Given the description of an element on the screen output the (x, y) to click on. 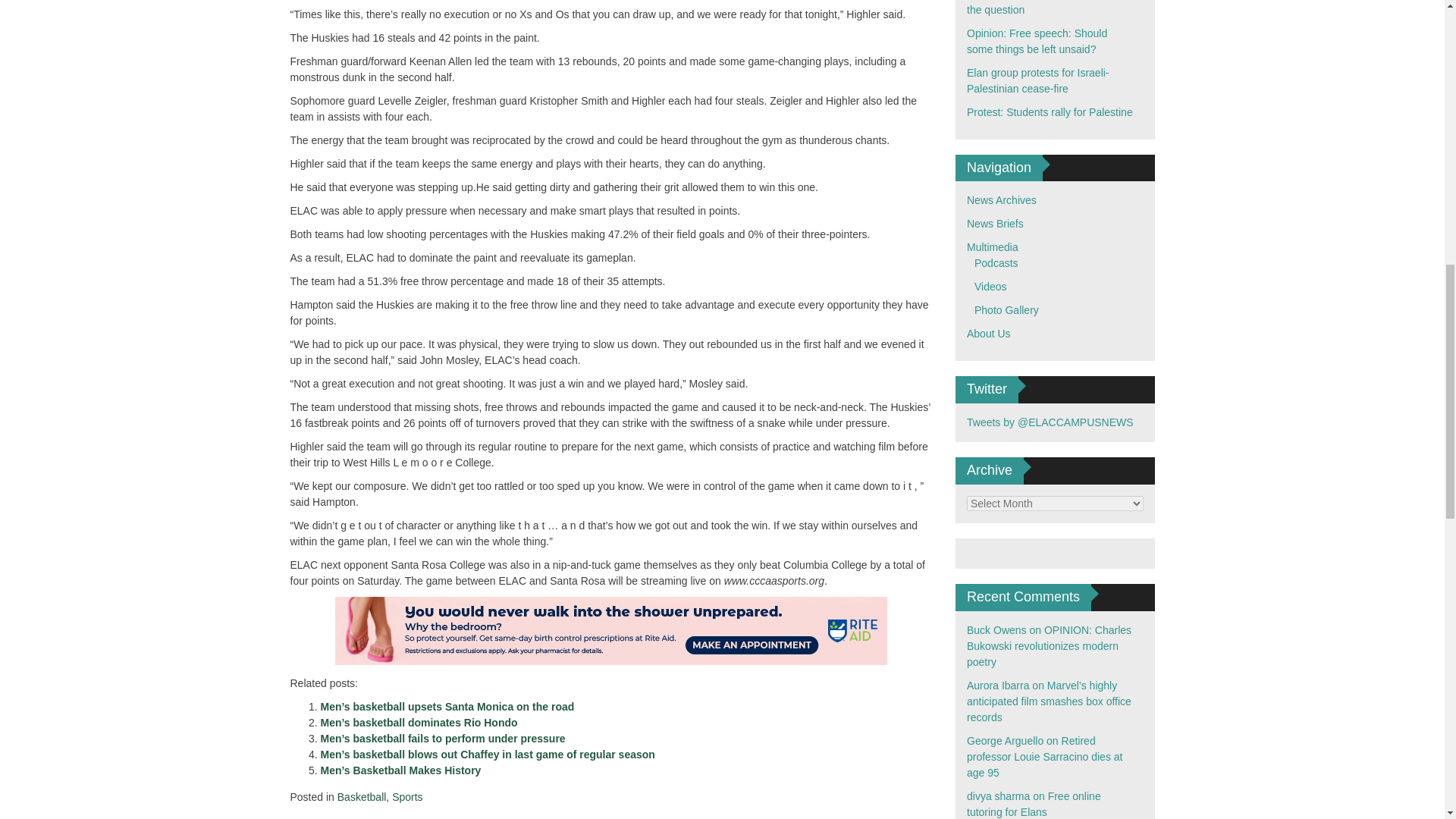
Sports (406, 797)
Basketball (362, 797)
